Given the description of an element on the screen output the (x, y) to click on. 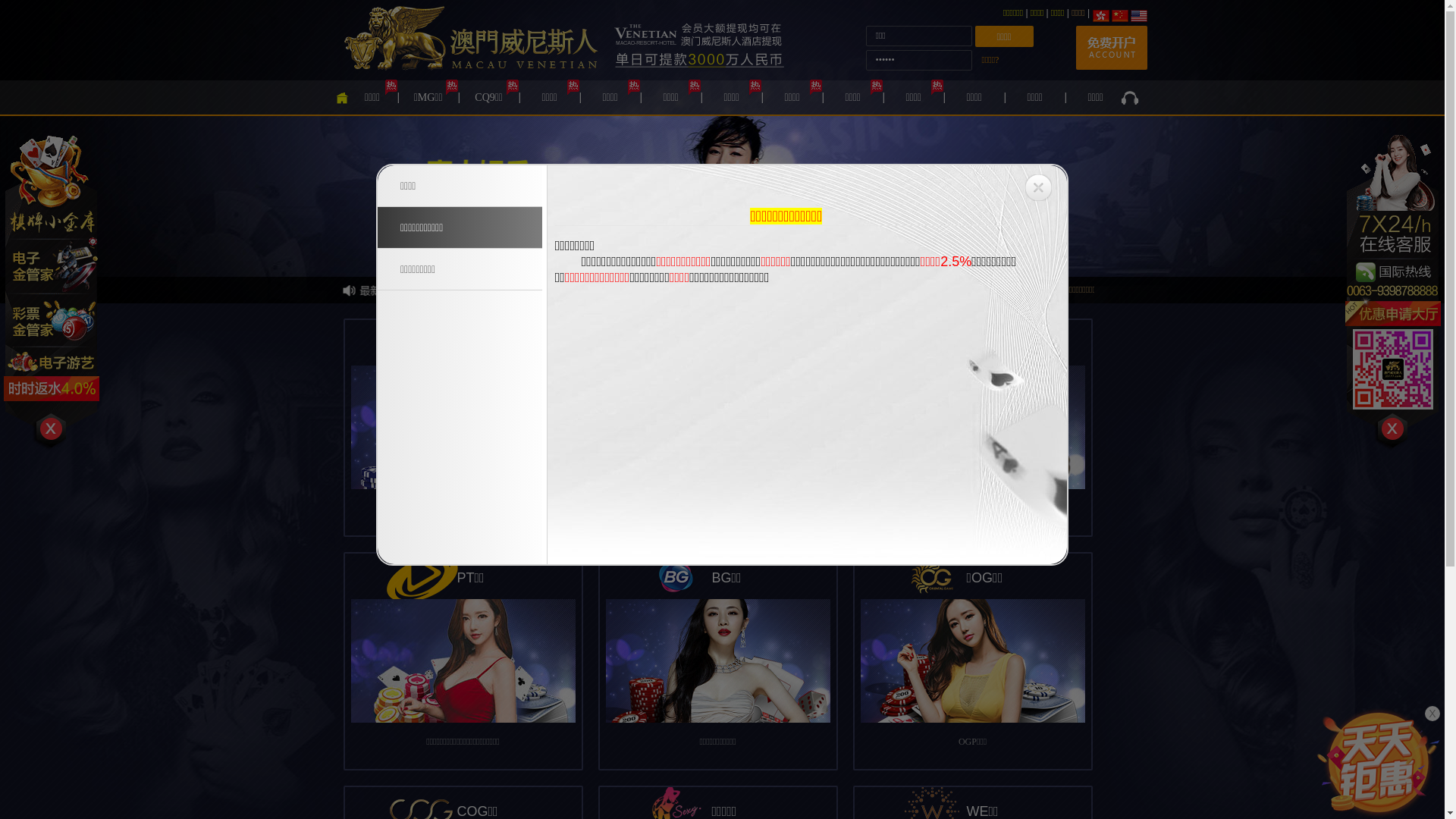
X Element type: text (1432, 713)
